Given the description of an element on the screen output the (x, y) to click on. 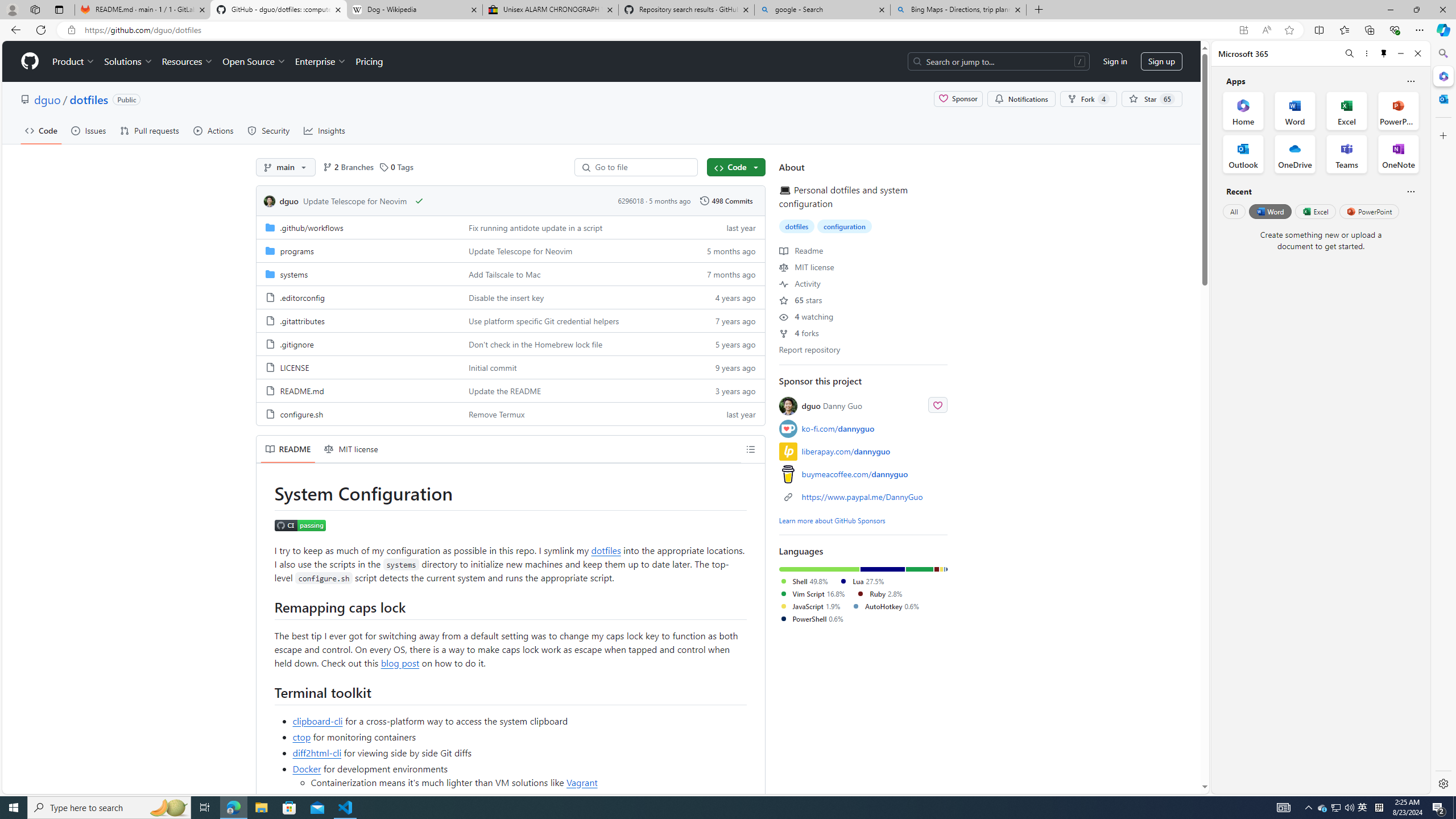
Update the README (573, 390)
4 forks (798, 332)
65 stars (800, 299)
Fork 4 (1087, 98)
AutomationID: folder-row-8 (510, 413)
OneDrive Office App (1295, 154)
Product (74, 60)
Security (269, 130)
.github/workflows, (Directory) (358, 227)
PowerShell0.6% (815, 619)
README.md, (File) (358, 390)
0 Tags (395, 167)
Pull requests (149, 130)
